Given the description of an element on the screen output the (x, y) to click on. 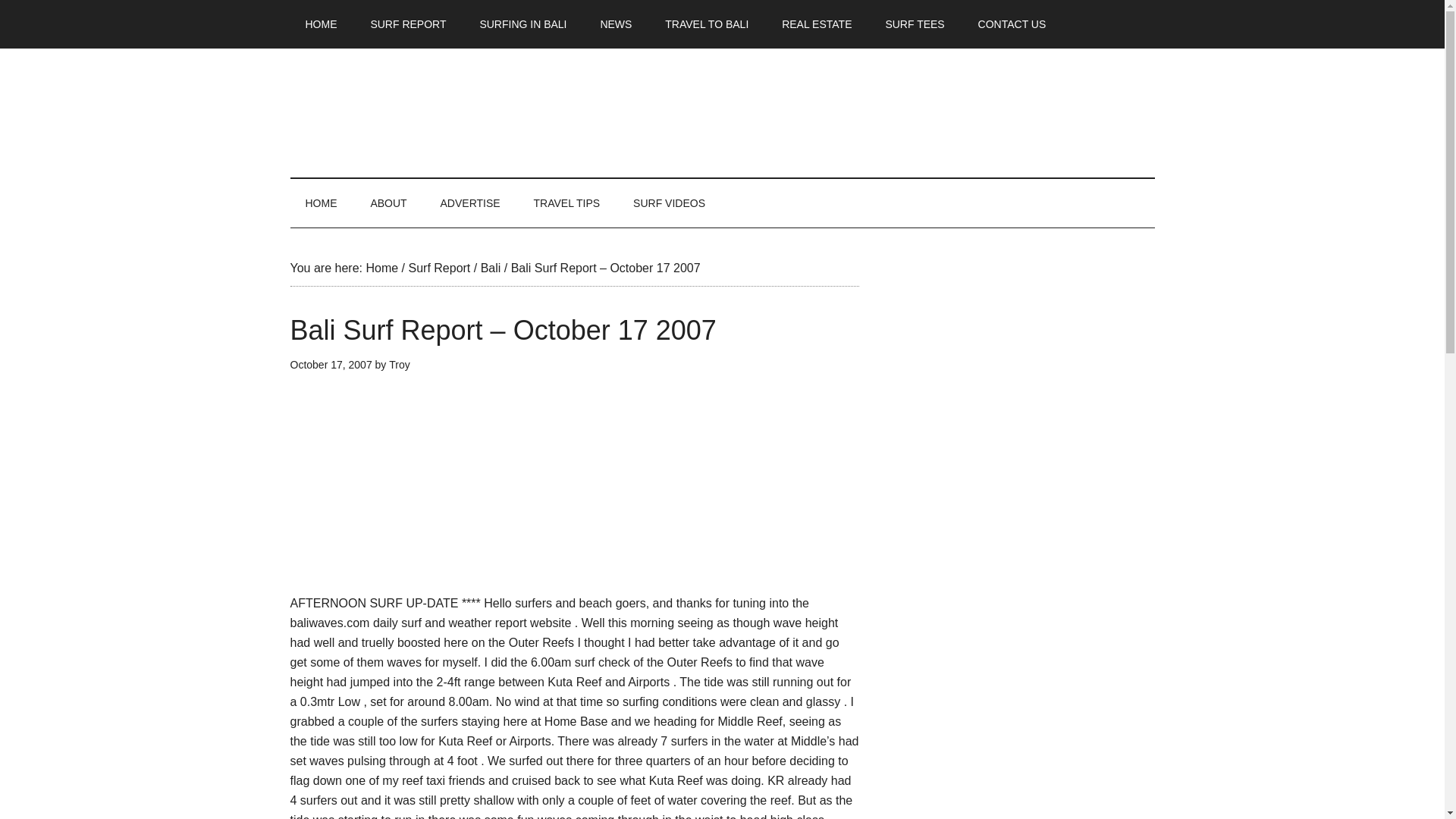
SURF REPORT (408, 24)
HOME (320, 24)
NEWS (615, 24)
SURFING IN BALI (522, 24)
